Given the description of an element on the screen output the (x, y) to click on. 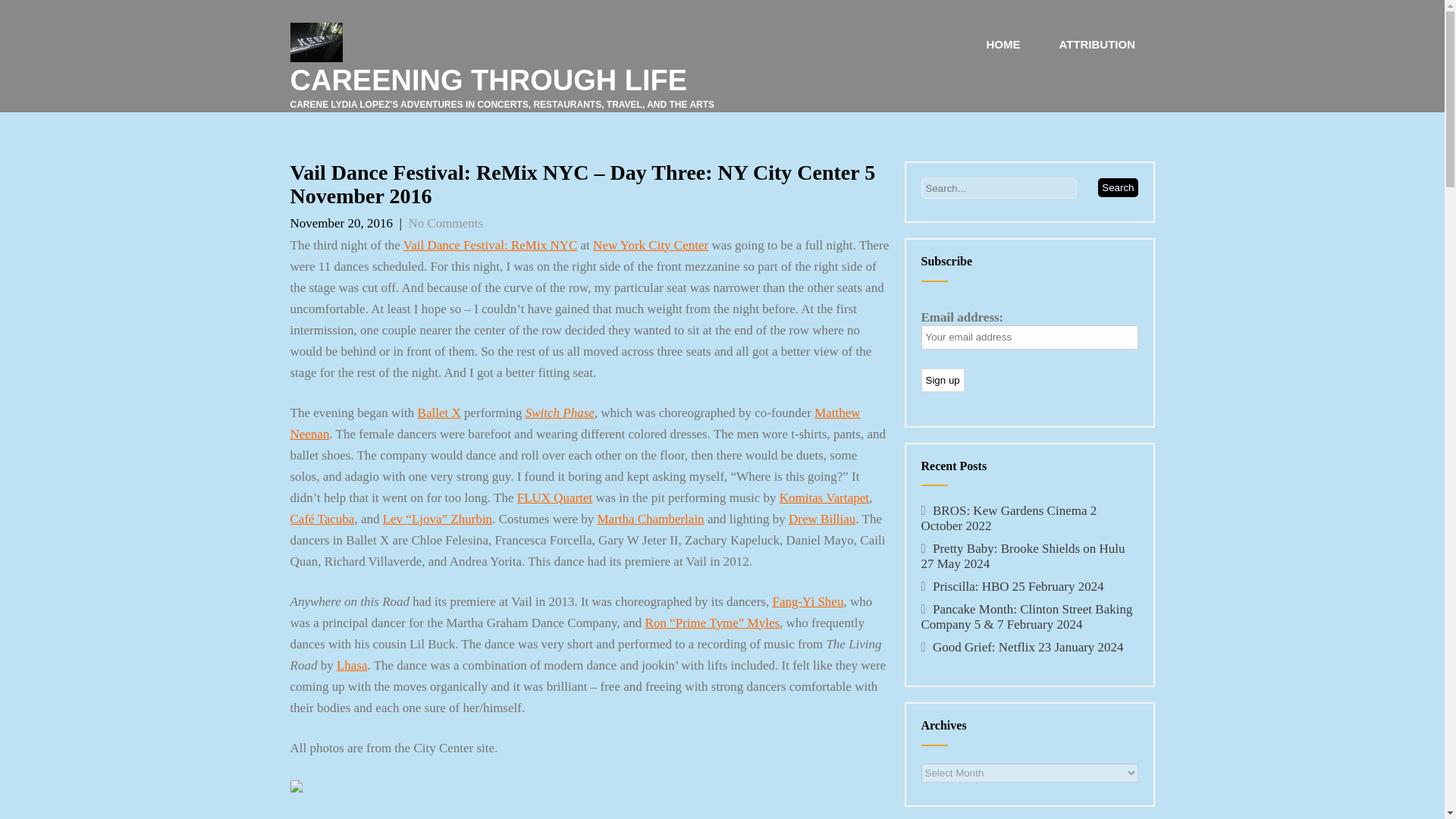
Komitas Vartapet (823, 497)
Vail Dance Festival: ReMix NYC (489, 245)
Ballet X (439, 412)
Sign up (941, 380)
Lhasa (352, 665)
Search (1117, 187)
New York City Center (649, 245)
Fang-Yi Sheu (807, 601)
No Comments (445, 223)
